Given the description of an element on the screen output the (x, y) to click on. 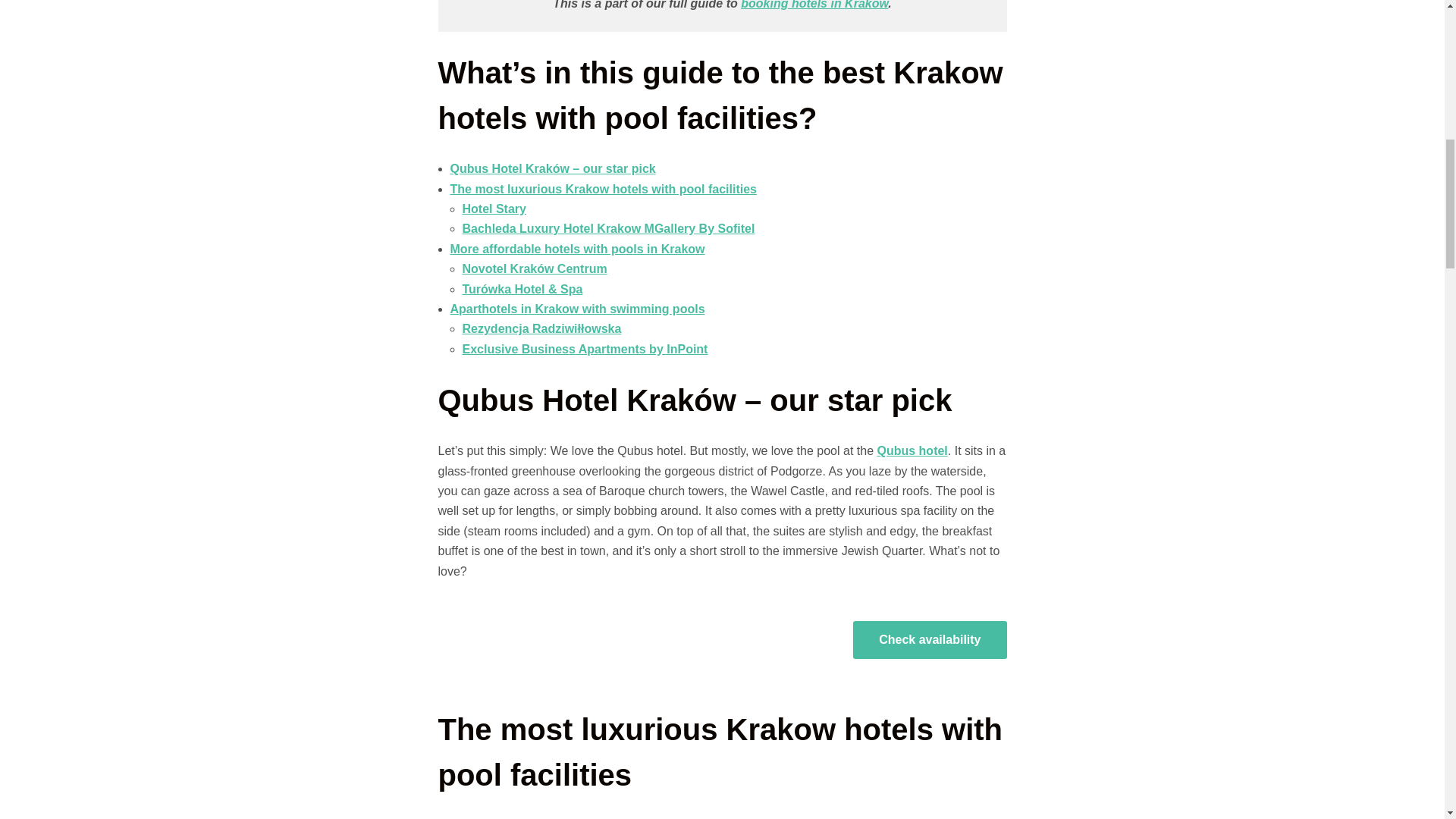
The most luxurious Krakow hotels with pool facilities (603, 188)
Bachleda Luxury Hotel Krakow MGallery By Sofitel (609, 228)
booking hotels in Krakow (814, 4)
Hotel Stary (494, 208)
